Given the description of an element on the screen output the (x, y) to click on. 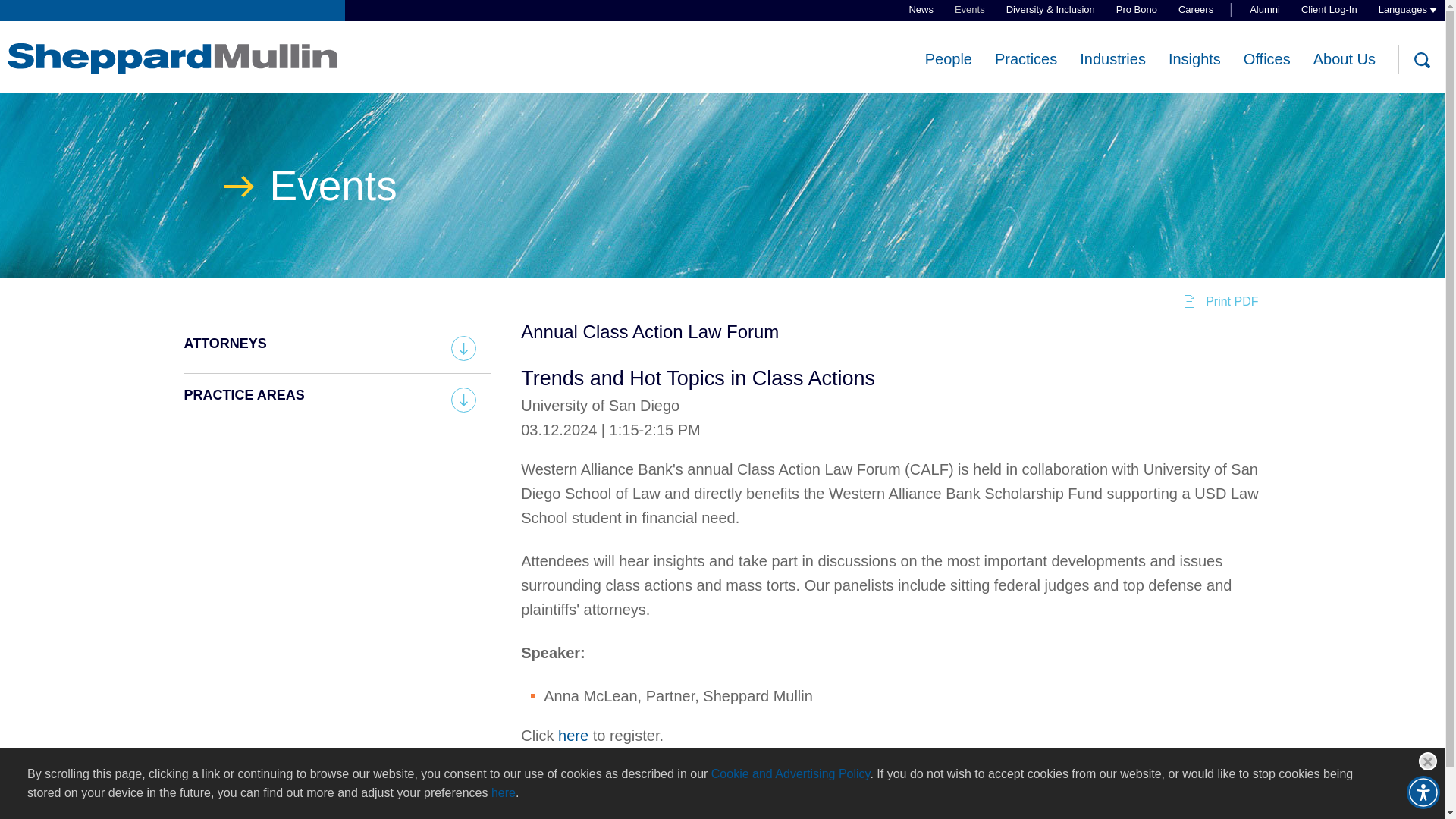
Menu (673, 20)
People (948, 59)
Main Content (666, 20)
Main Menu (673, 20)
Practices (1025, 59)
